Given the description of an element on the screen output the (x, y) to click on. 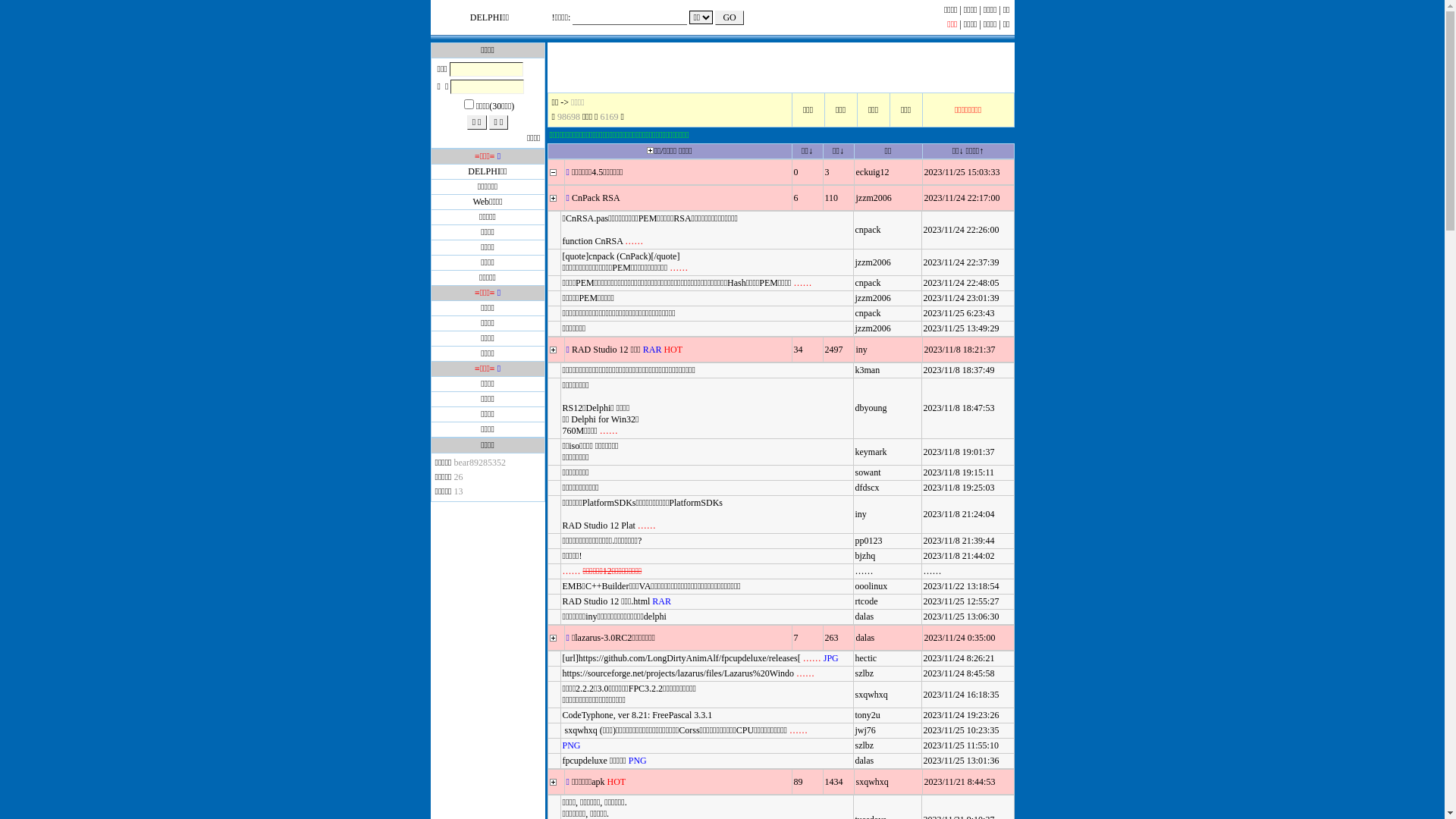
dalas Element type: text (864, 616)
szlbz Element type: text (864, 673)
eckuig12 Element type: text (871, 171)
sxqwhxq Element type: text (871, 693)
jzzm2006 Element type: text (873, 261)
iny Element type: text (860, 513)
Advertisement Element type: hover (780, 67)
szlbz Element type: text (864, 745)
tony2u Element type: text (867, 714)
bear89285352 Element type: text (479, 462)
! Element type: text (553, 17)
jzzm2006 Element type: text (873, 328)
cnpack Element type: text (868, 229)
CnPack RSA Element type: text (595, 197)
dfdscx Element type: text (867, 487)
jwj76 Element type: text (865, 729)
ooolinux Element type: text (871, 585)
cnpack Element type: text (868, 312)
hectic Element type: text (866, 657)
rtcode Element type: text (866, 601)
cnpack Element type: text (868, 282)
dalas Element type: text (864, 760)
13 Element type: text (457, 491)
jzzm2006 Element type: text (873, 197)
dbyoung Element type: text (871, 407)
k3man Element type: text (867, 369)
Advertisement Element type: hover (487, 595)
pp0123 Element type: text (868, 540)
dalas Element type: text (864, 637)
bjzhq Element type: text (865, 555)
iny Element type: text (860, 349)
jzzm2006 Element type: text (873, 297)
 GO  Element type: text (729, 17)
sxqwhxq Element type: text (871, 781)
sowant Element type: text (868, 472)
keymark Element type: text (871, 450)
